Given the description of an element on the screen output the (x, y) to click on. 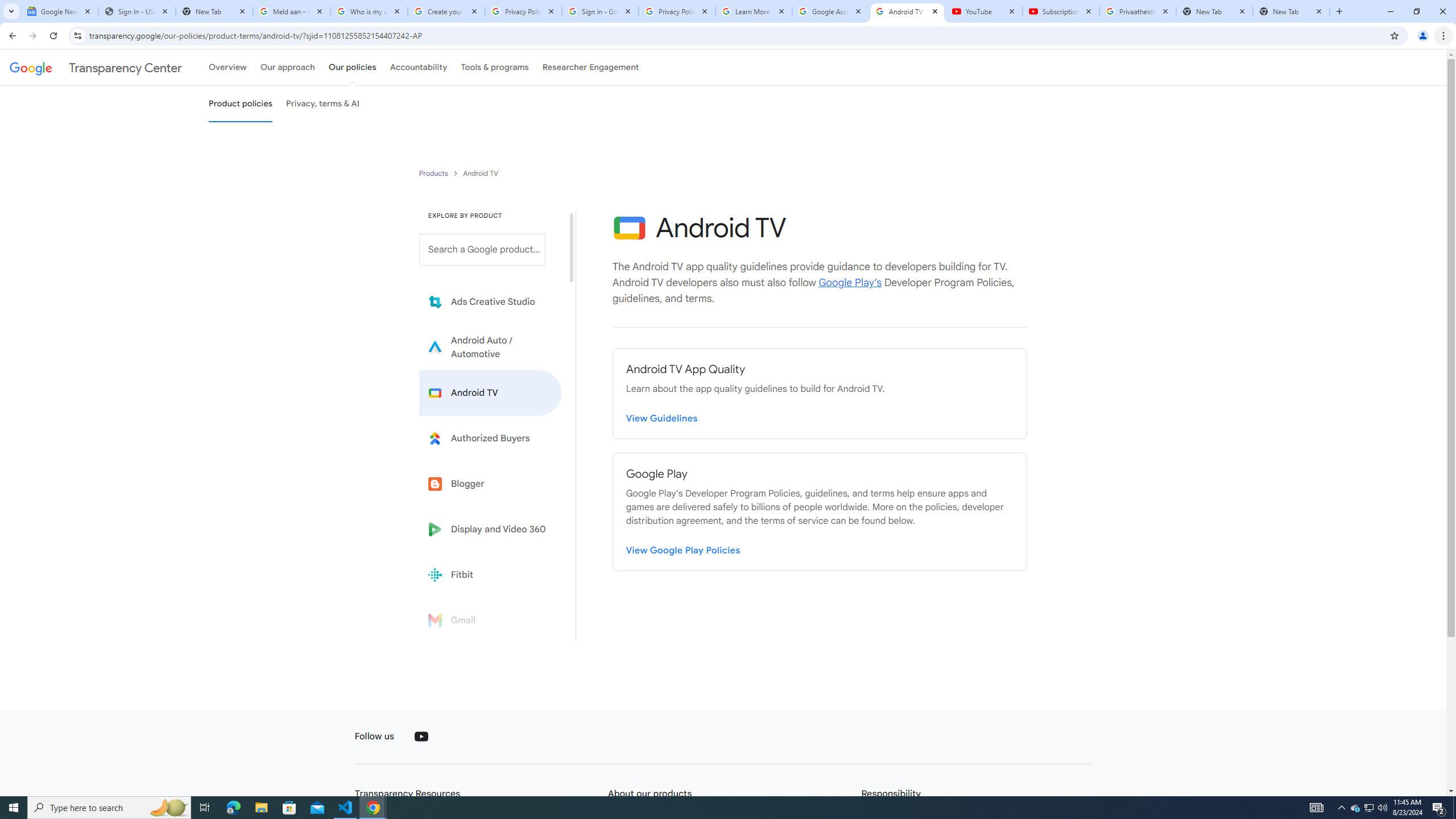
Accountability (418, 67)
Sign In - USA TODAY (136, 11)
Blogger (490, 483)
Google Account (830, 11)
Gmail (490, 619)
Who is my administrator? - Google Account Help (368, 11)
YouTube (983, 11)
Gmail (490, 619)
Transparency Center (95, 67)
Android TV Policies and Guidelines - Transparency Center (906, 11)
